Given the description of an element on the screen output the (x, y) to click on. 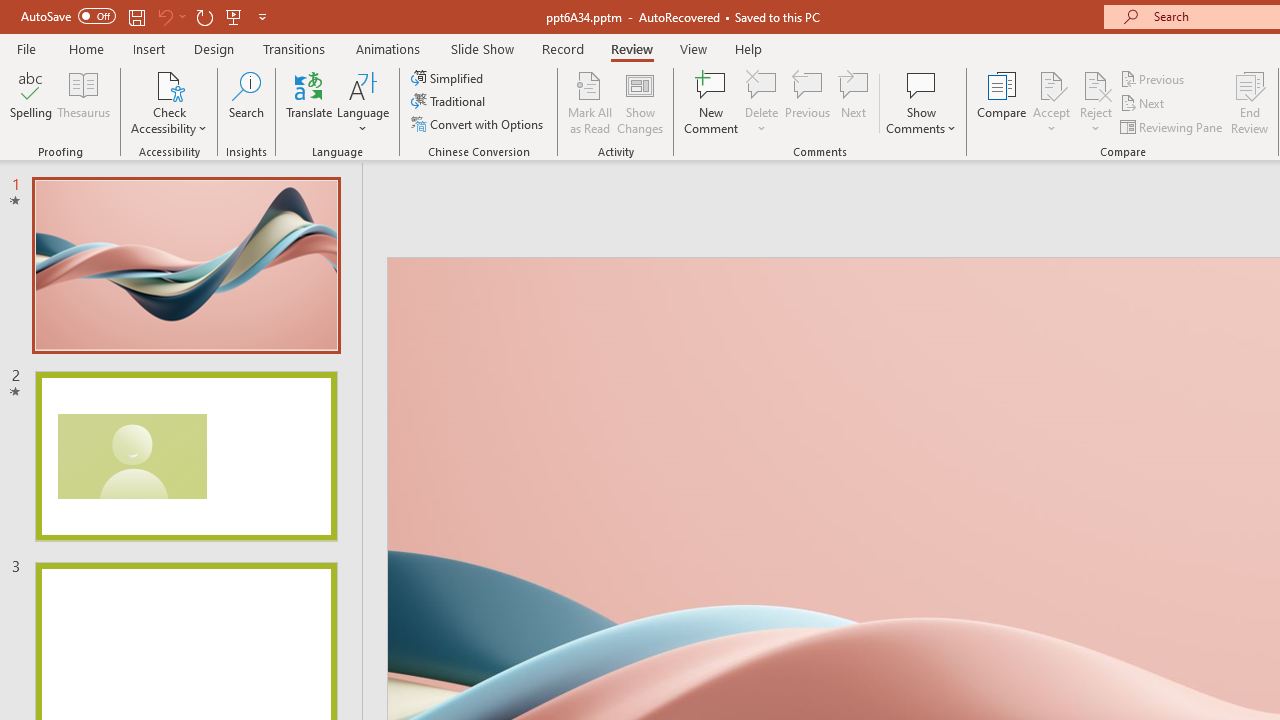
Convert with Options... (479, 124)
